Given the description of an element on the screen output the (x, y) to click on. 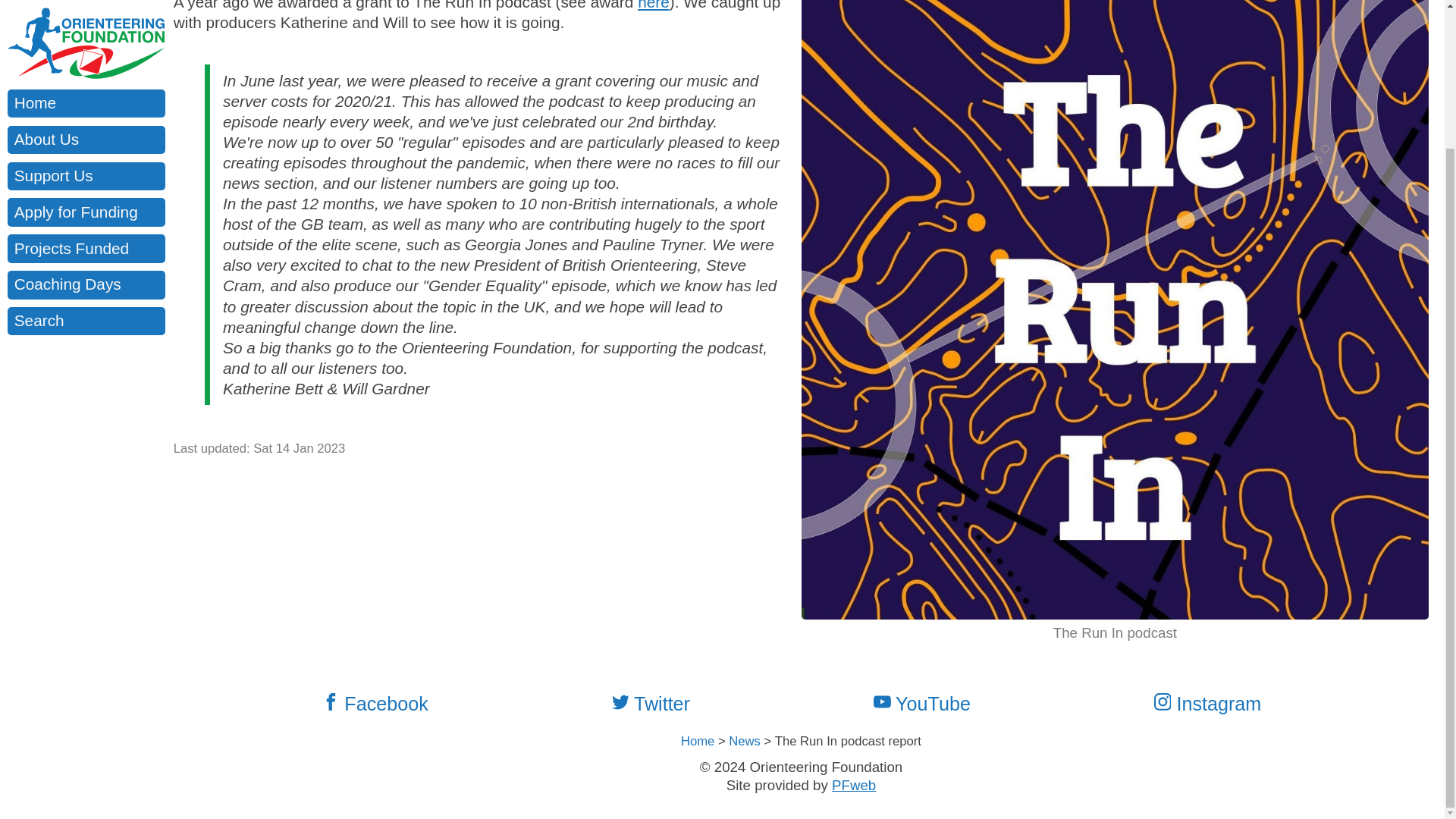
 Twitter (660, 703)
Search (86, 150)
Watch us on YouTube (931, 703)
 YouTube (931, 703)
News (744, 740)
Projects Funded (86, 77)
 Instagram (1217, 703)
Apply for Funding (86, 41)
Home (697, 740)
PFweb (853, 785)
